Given the description of an element on the screen output the (x, y) to click on. 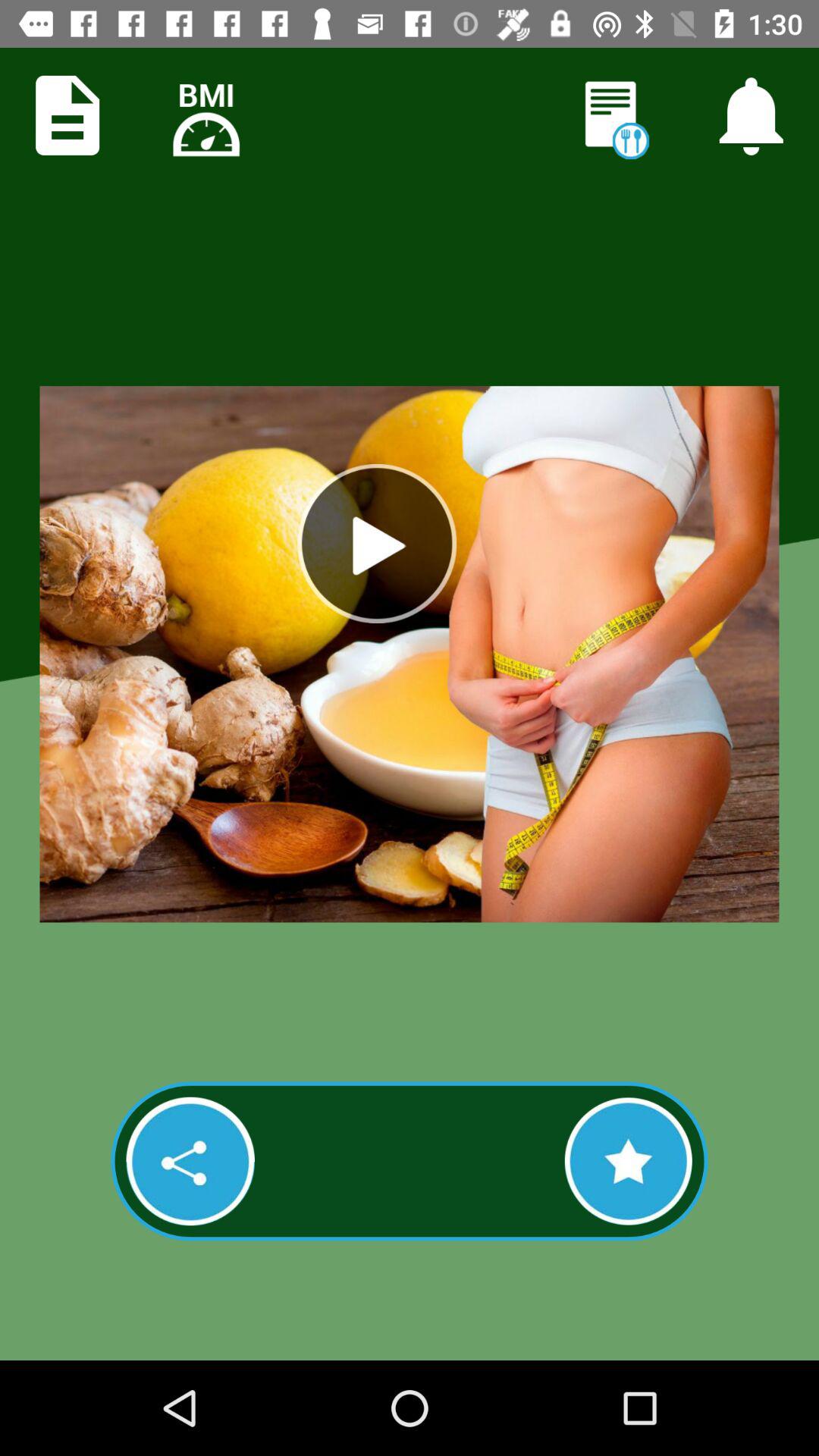
favourite (628, 1161)
